Given the description of an element on the screen output the (x, y) to click on. 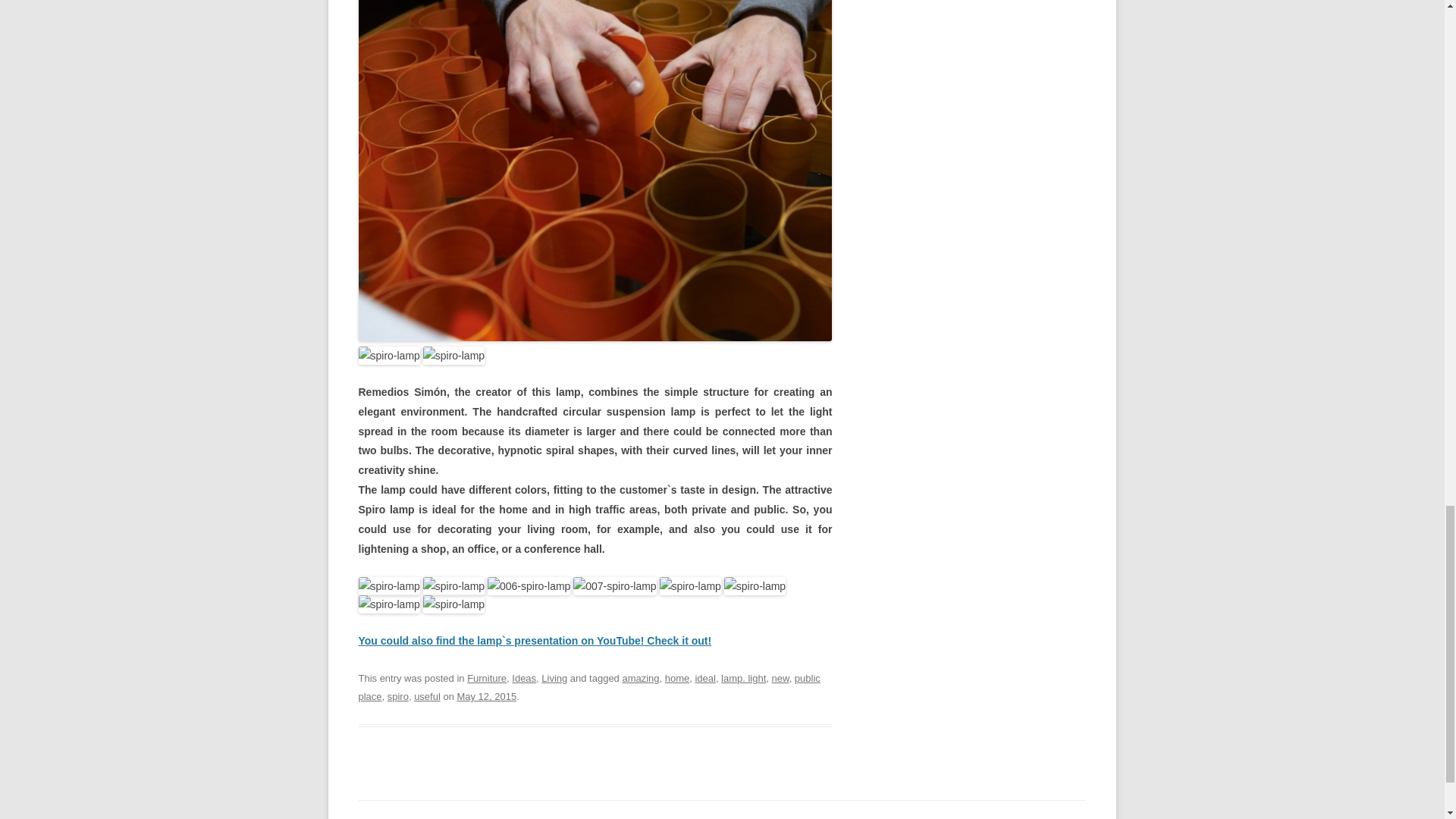
Ideas (523, 677)
Furniture (486, 677)
spiro (398, 696)
2:39 pm (486, 696)
home (676, 677)
amazing (640, 677)
public place (588, 686)
Spiro Lamp (534, 640)
useful (427, 696)
new (780, 677)
